Given the description of an element on the screen output the (x, y) to click on. 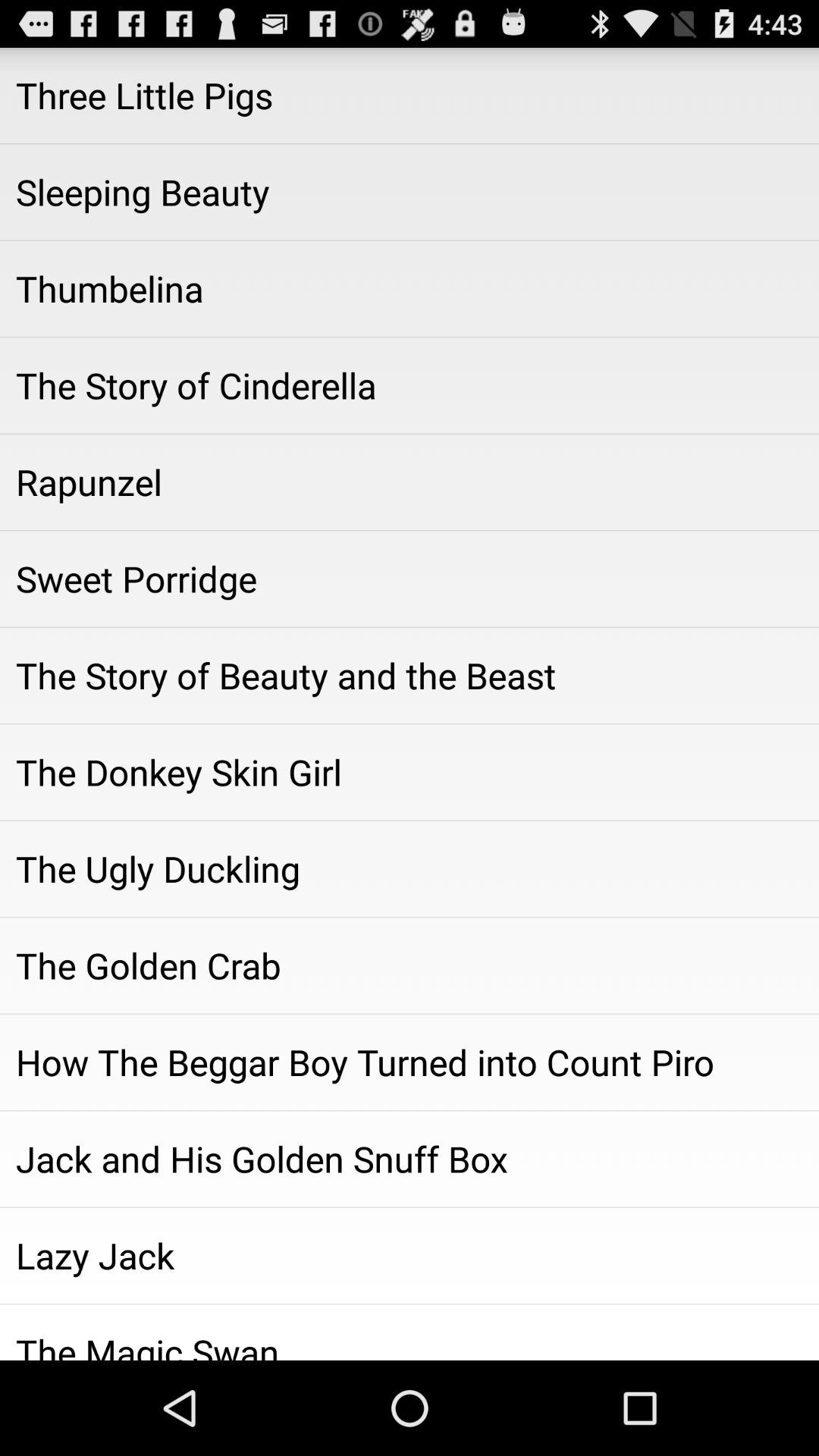
open item below the sleeping beauty (409, 288)
